Given the description of an element on the screen output the (x, y) to click on. 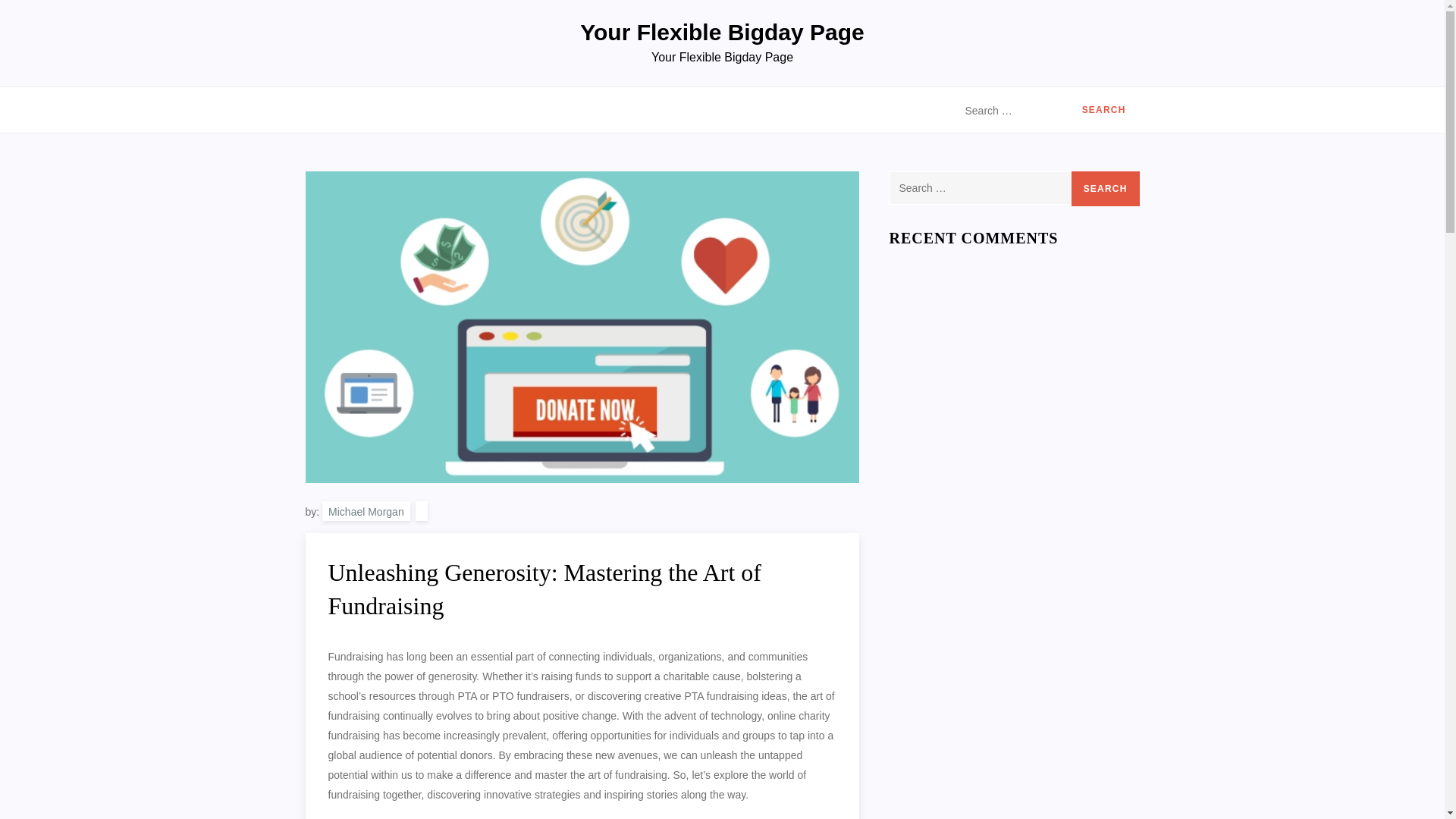
Michael Morgan (365, 510)
Your Flexible Bigday Page (721, 32)
Search (1104, 110)
Search (1105, 188)
Search (1104, 110)
Search (1105, 188)
Search (1104, 110)
Search (1105, 188)
